Given the description of an element on the screen output the (x, y) to click on. 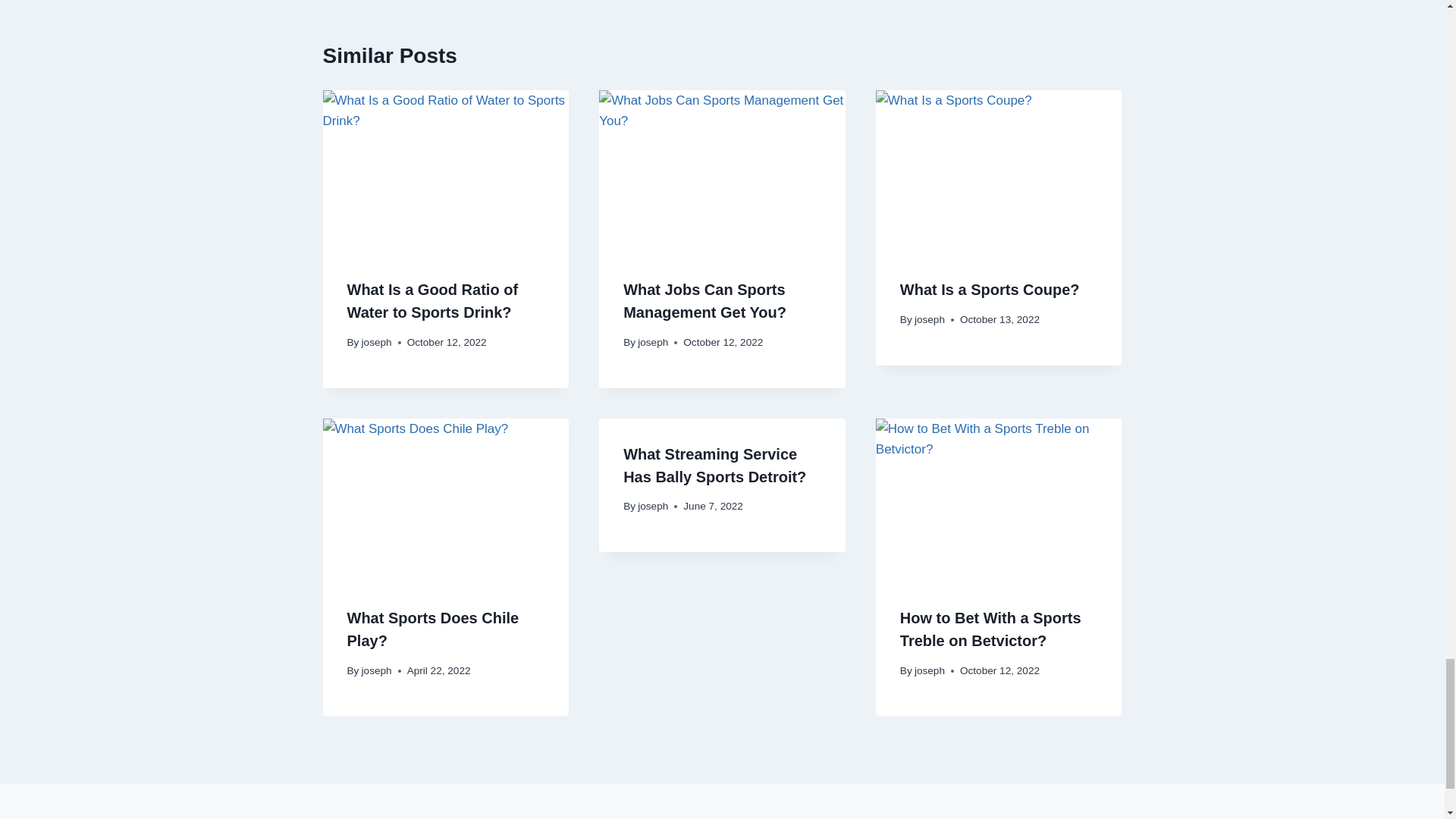
joseph (652, 342)
What Jobs Can Sports Management Get You? (704, 301)
What Is a Sports Coupe? (989, 289)
What Is a Good Ratio of Water to Sports Drink? (432, 301)
joseph (376, 342)
joseph (929, 319)
